Given the description of an element on the screen output the (x, y) to click on. 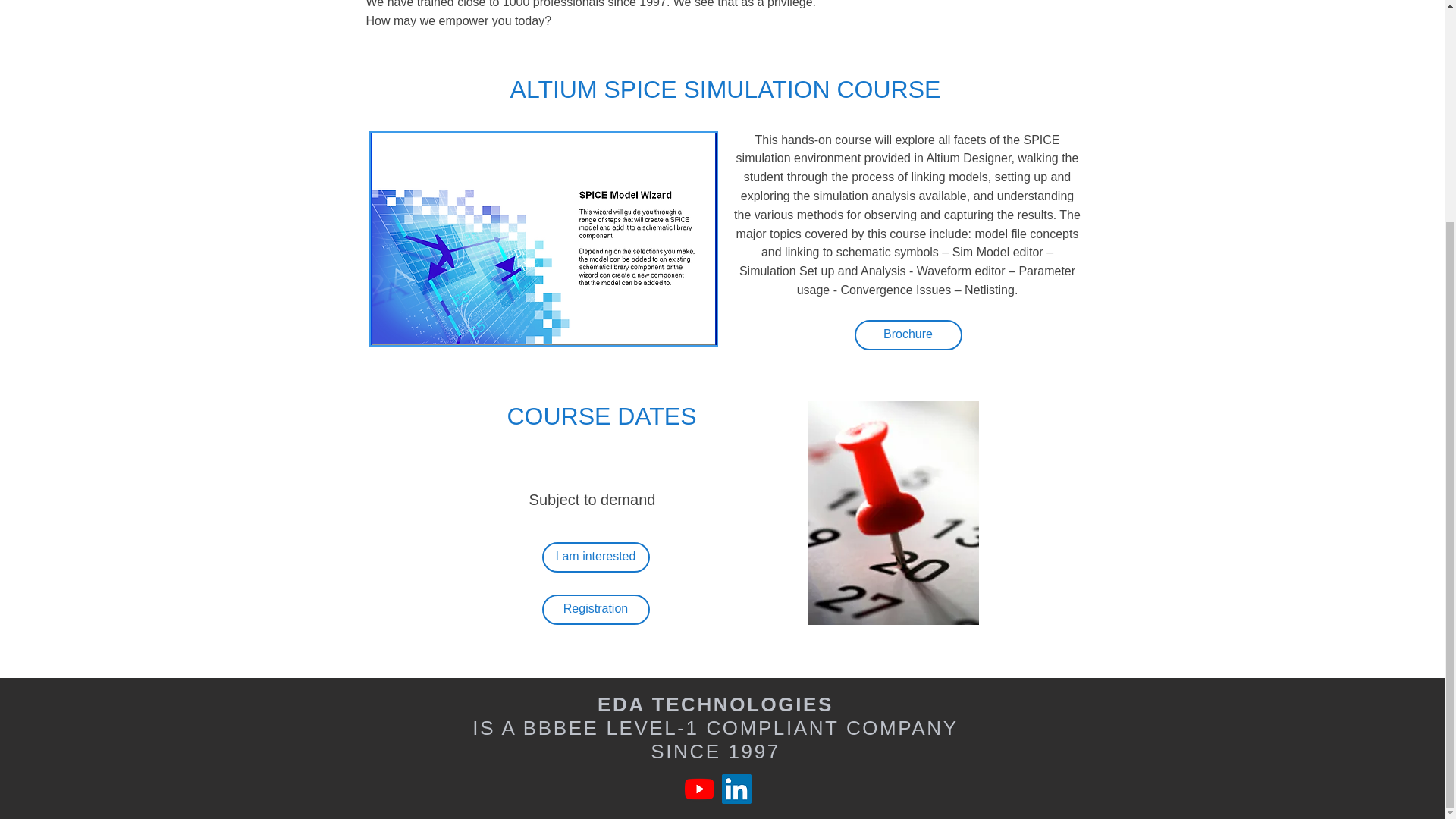
Brochure (906, 335)
Registration (595, 609)
I am interested (595, 557)
